Given the description of an element on the screen output the (x, y) to click on. 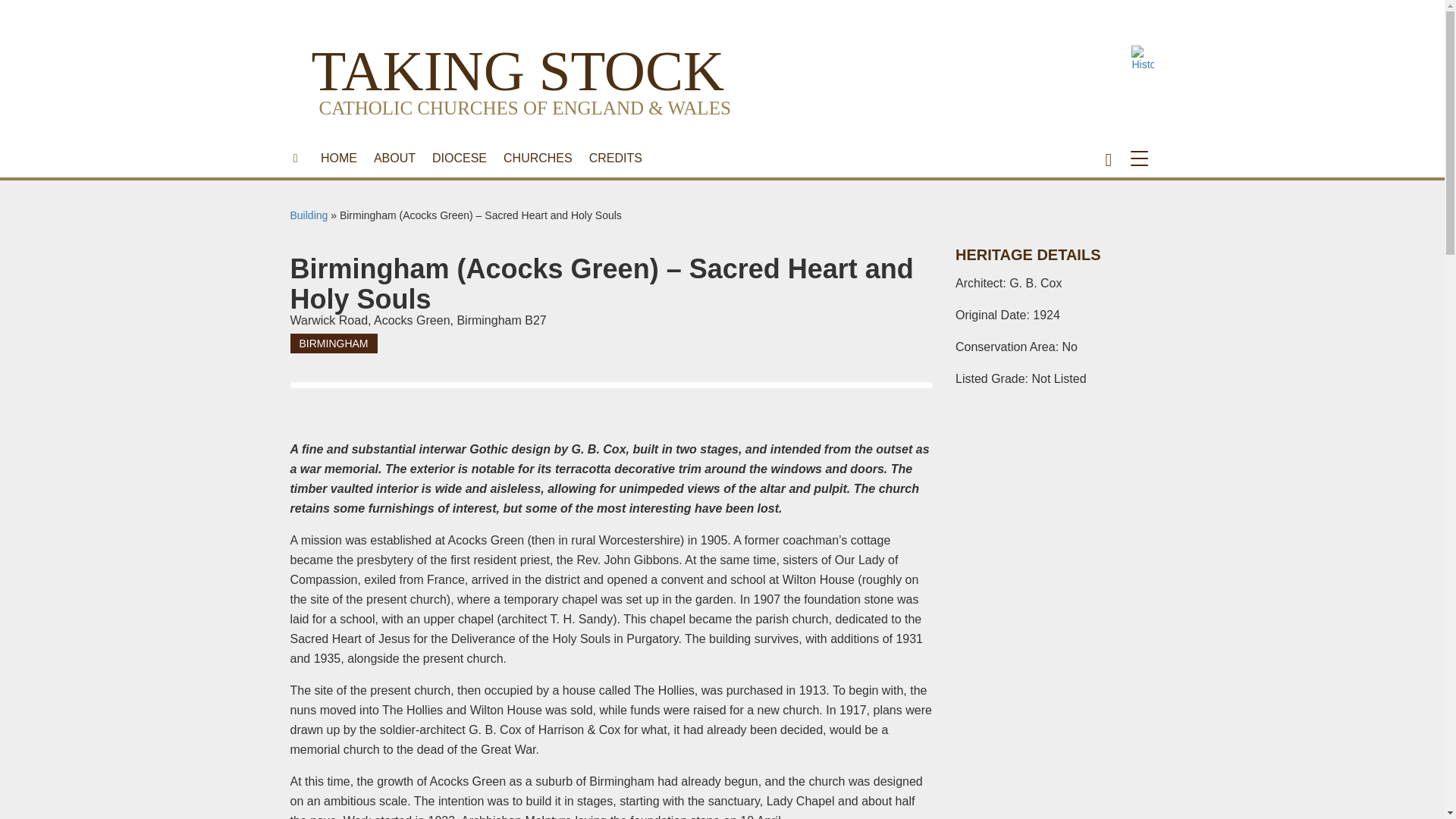
CHURCHES (537, 158)
HOME (339, 158)
CREDITS (615, 158)
ABOUT (394, 158)
Building (308, 215)
DIOCESE (459, 158)
BIRMINGHAM (333, 342)
TOGGLE NAVIGATION (1142, 157)
